Given the description of an element on the screen output the (x, y) to click on. 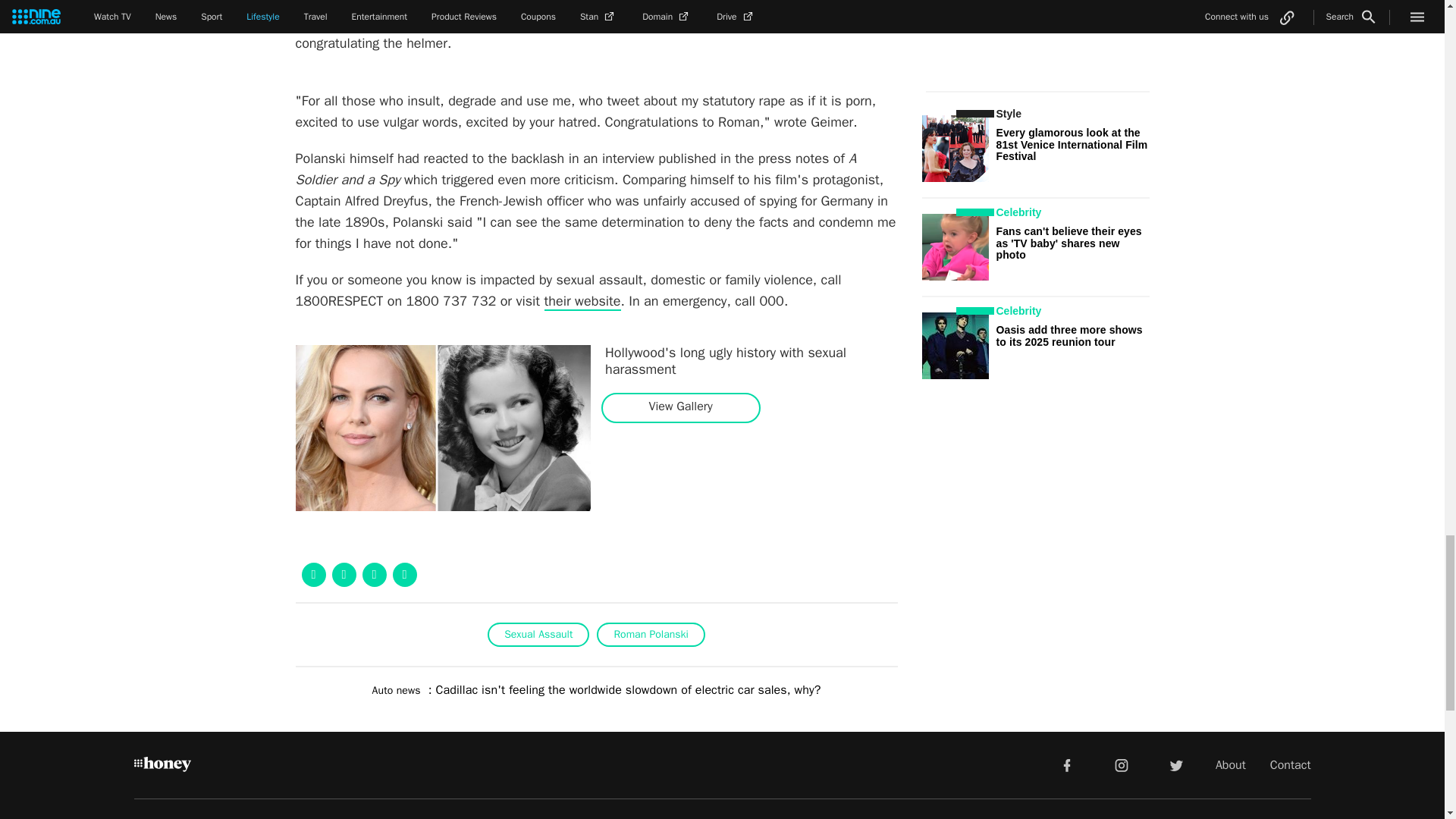
instagram (1121, 765)
facebook (1066, 765)
twitter (1175, 765)
View Gallery (680, 406)
their website (582, 301)
